Given the description of an element on the screen output the (x, y) to click on. 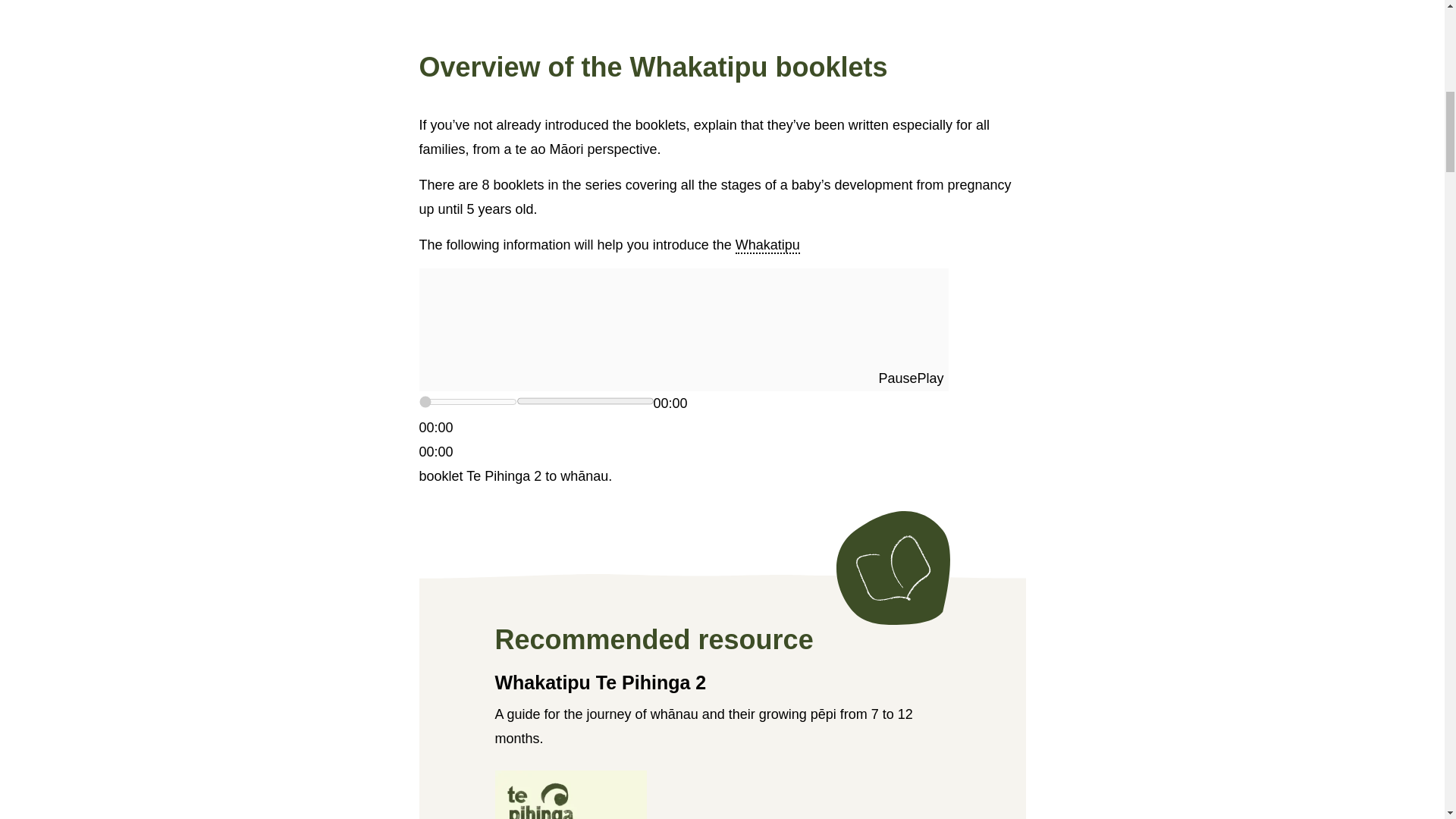
PausePlay (683, 329)
0 (467, 401)
